Given the description of an element on the screen output the (x, y) to click on. 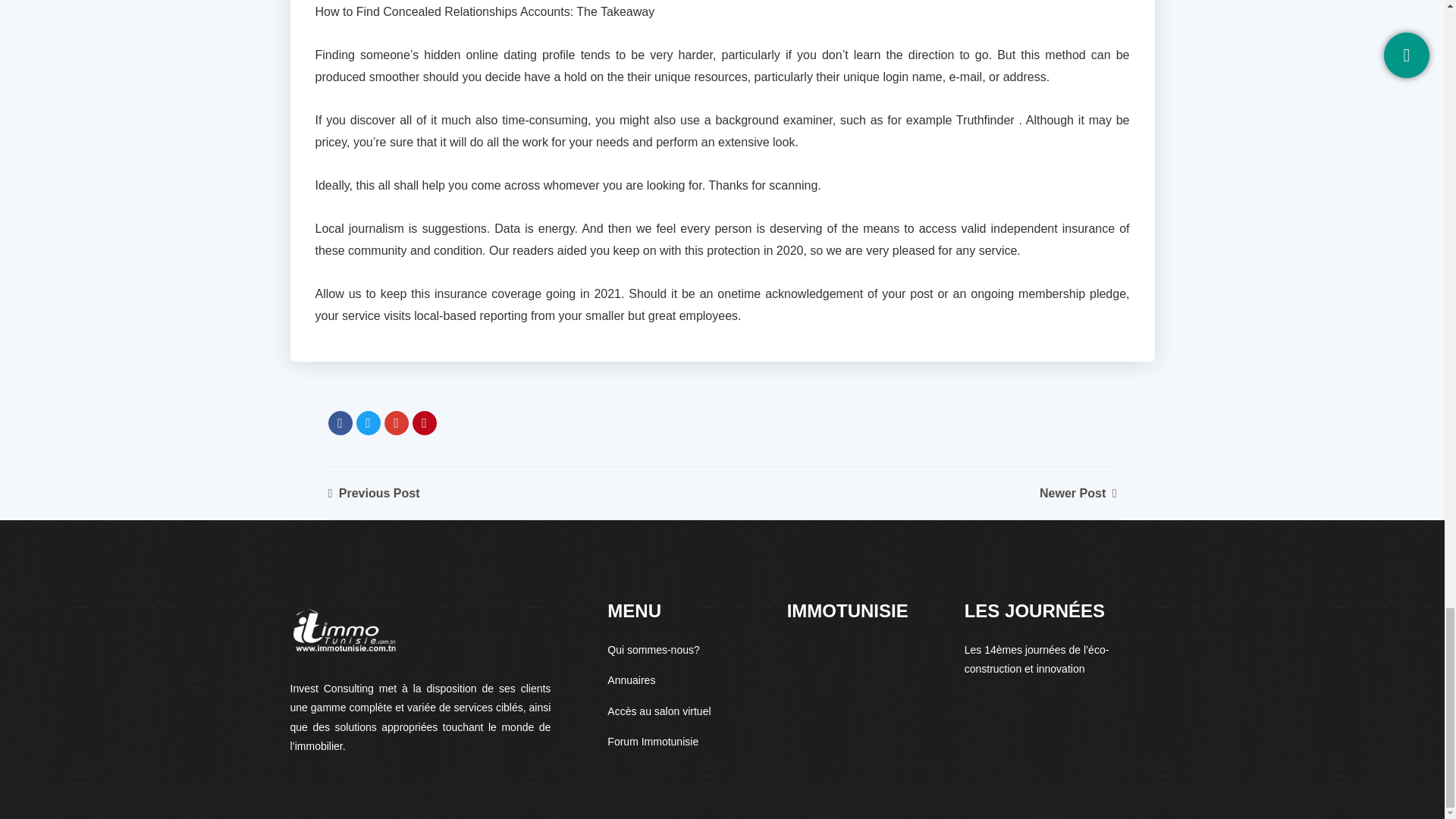
Google Plus (395, 422)
Newer Post (1077, 492)
Forum Immotunisie (652, 741)
Facebook (339, 422)
Annuaires (631, 680)
Pinterest (424, 422)
Previous Post (373, 492)
Qui sommes-nous? (652, 649)
Twitter (368, 422)
